Given the description of an element on the screen output the (x, y) to click on. 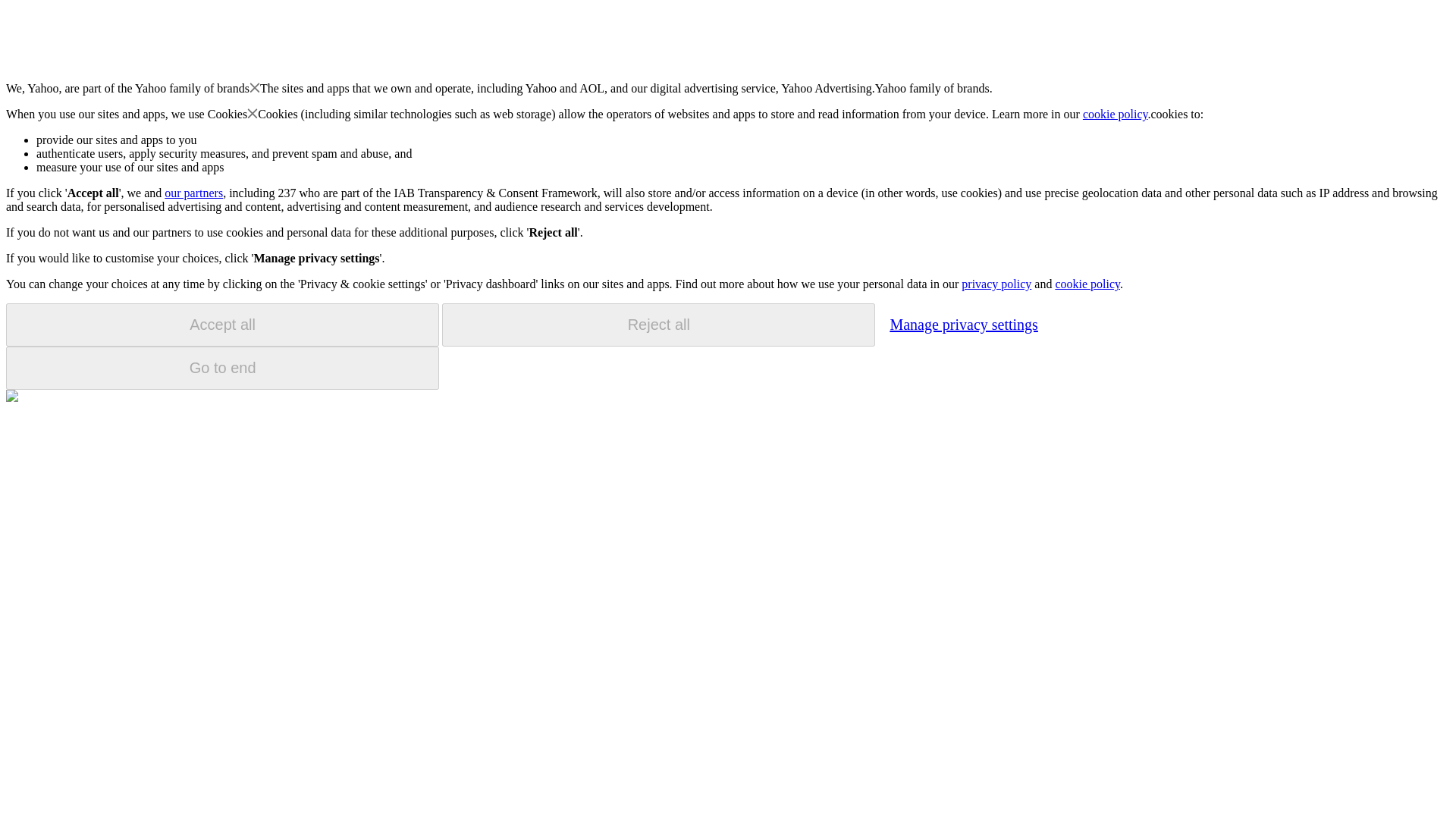
privacy policy (995, 283)
Accept all (222, 324)
Manage privacy settings (963, 323)
our partners (193, 192)
cookie policy (1086, 283)
Go to end (222, 367)
Reject all (658, 324)
cookie policy (1115, 113)
